Given the description of an element on the screen output the (x, y) to click on. 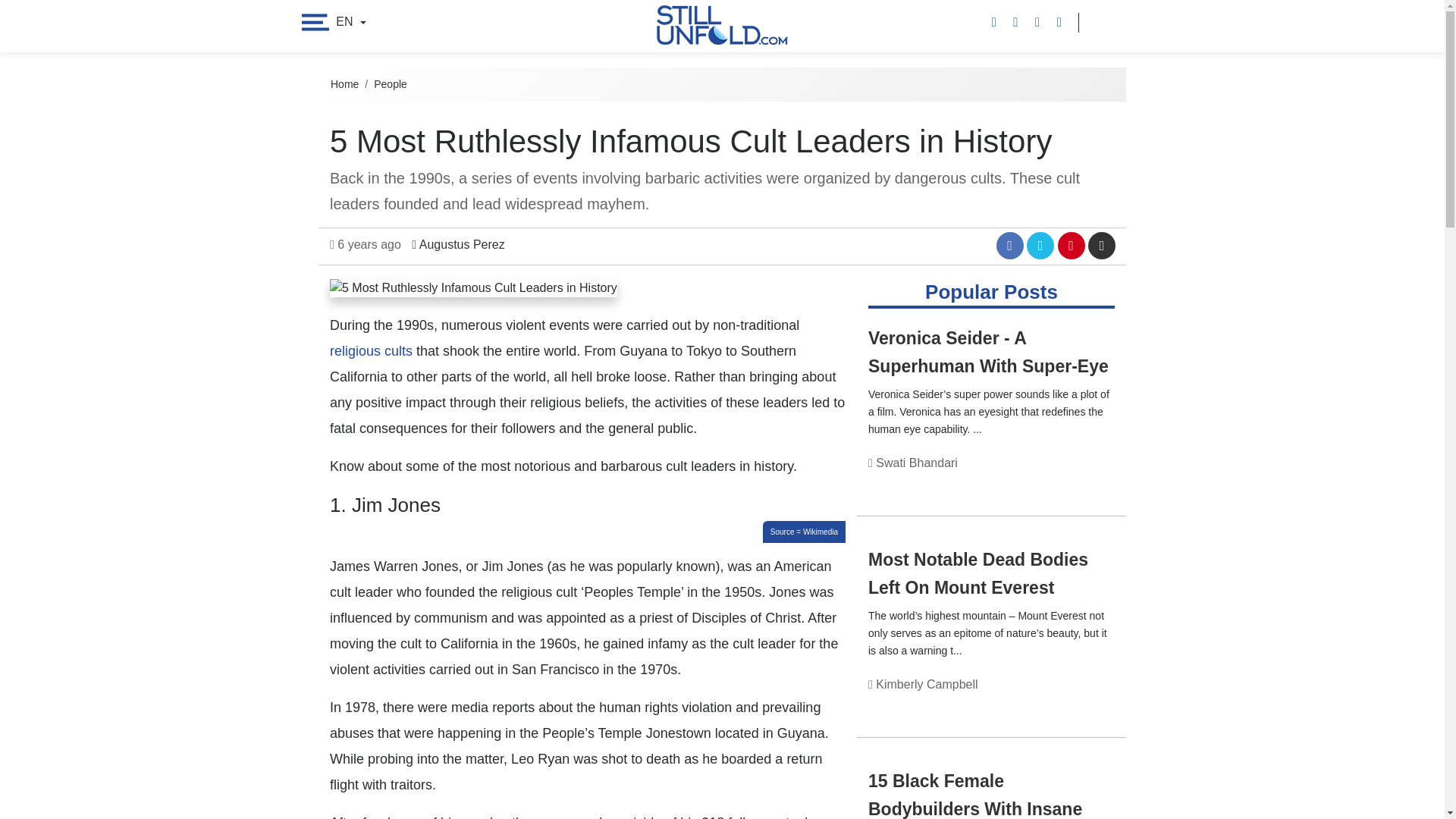
religious cults (371, 350)
Most Notable Dead Bodies Left On Mount Everest (977, 573)
Veronica Seider - A Superhuman With Super-Eye (987, 351)
People (1081, 480)
People (390, 83)
Most Notable Dead Bodies Left On Mount Everest (977, 573)
Home (344, 83)
Augustus Perez (457, 244)
People (1081, 701)
Veronica Seider - A Superhuman With Super-Eye (987, 351)
People (1081, 480)
15 Black Female Bodybuilders With Insane Physique (974, 795)
15 Black Female Bodybuilders With Insane Physique (974, 795)
People (1081, 701)
EN (350, 21)
